Given the description of an element on the screen output the (x, y) to click on. 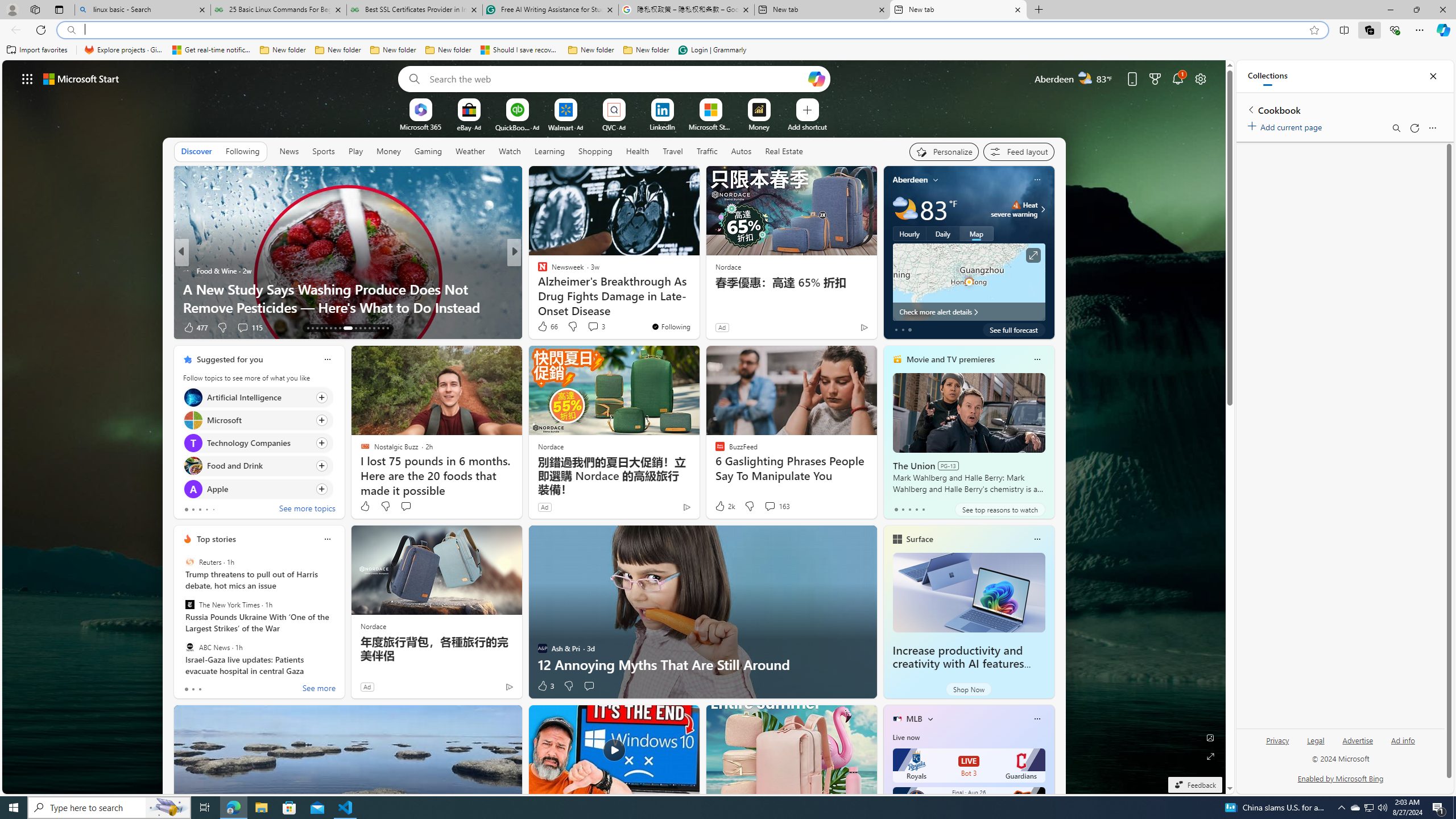
Edit Background (1210, 737)
15 Bad Hygiene Habits That Could Actually Make You Sick (697, 298)
3 Like (545, 685)
Like (364, 505)
Legal (1315, 745)
Travel (672, 151)
AutomationID: tab-23 (360, 328)
AutomationID: tab-18 (330, 328)
